Given the description of an element on the screen output the (x, y) to click on. 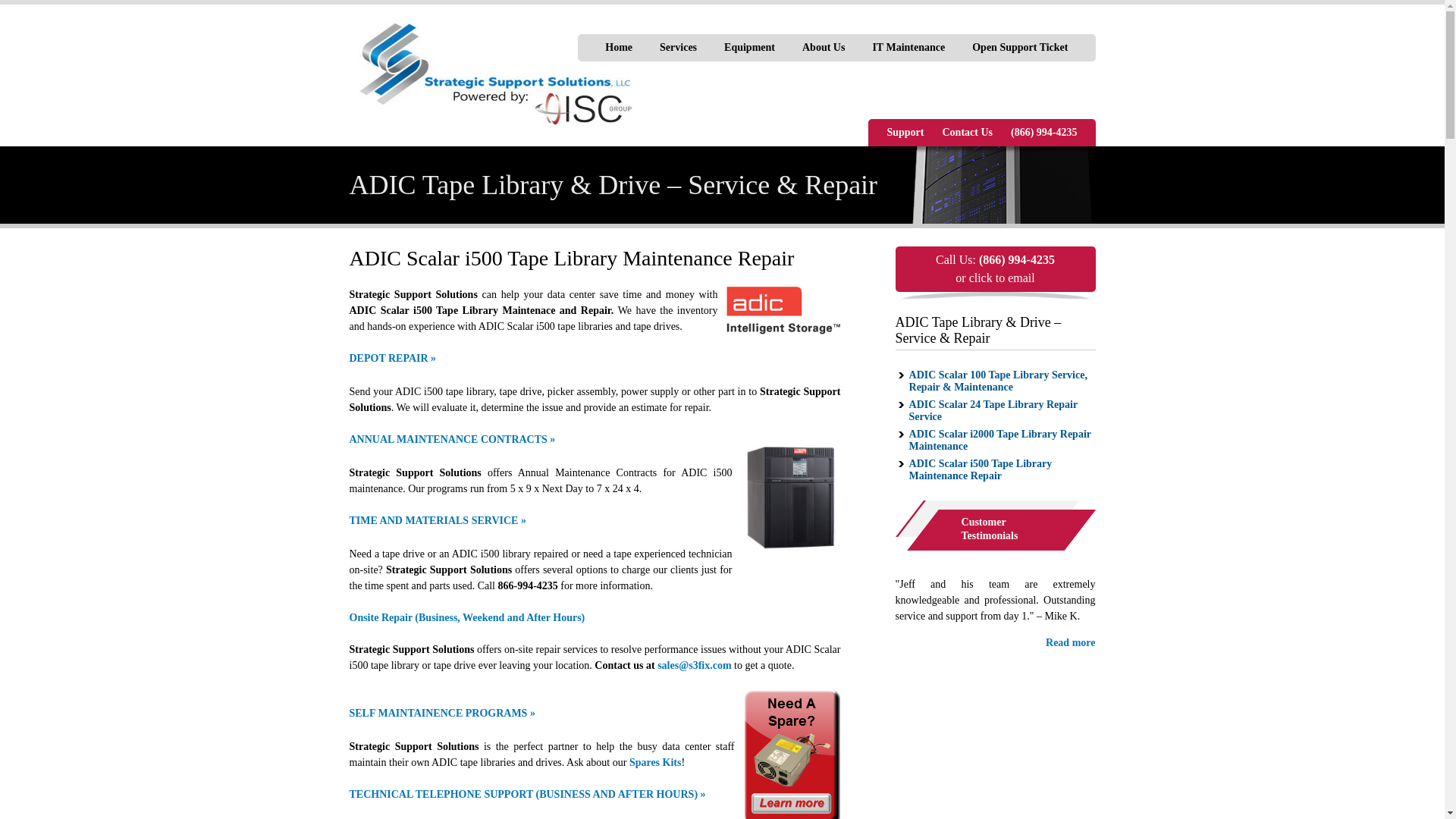
Services (678, 47)
Equipment (749, 47)
Home (618, 47)
